Given the description of an element on the screen output the (x, y) to click on. 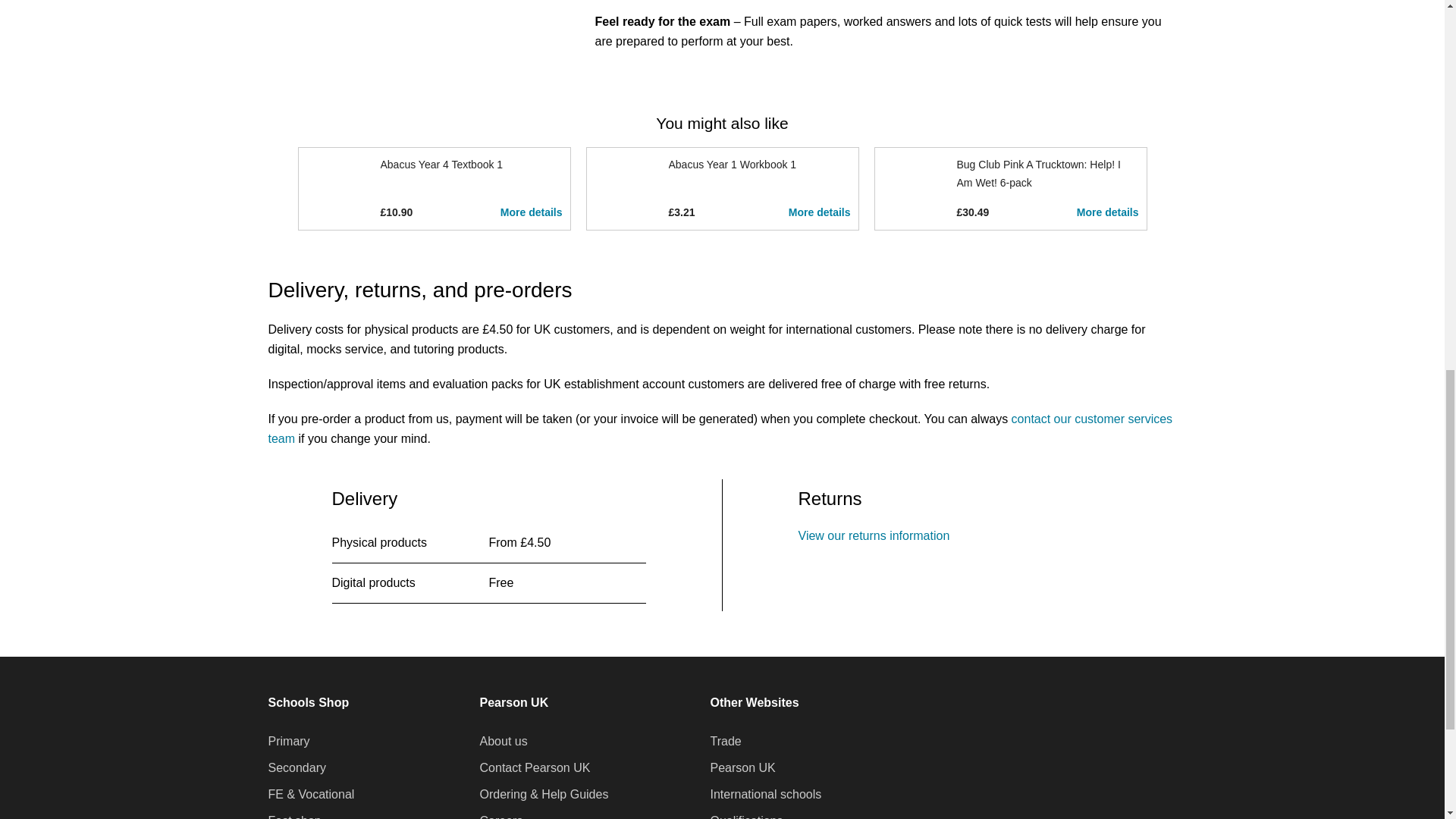
Returns (873, 535)
Abacus Year 4 Textbook 1 (441, 163)
